Given the description of an element on the screen output the (x, y) to click on. 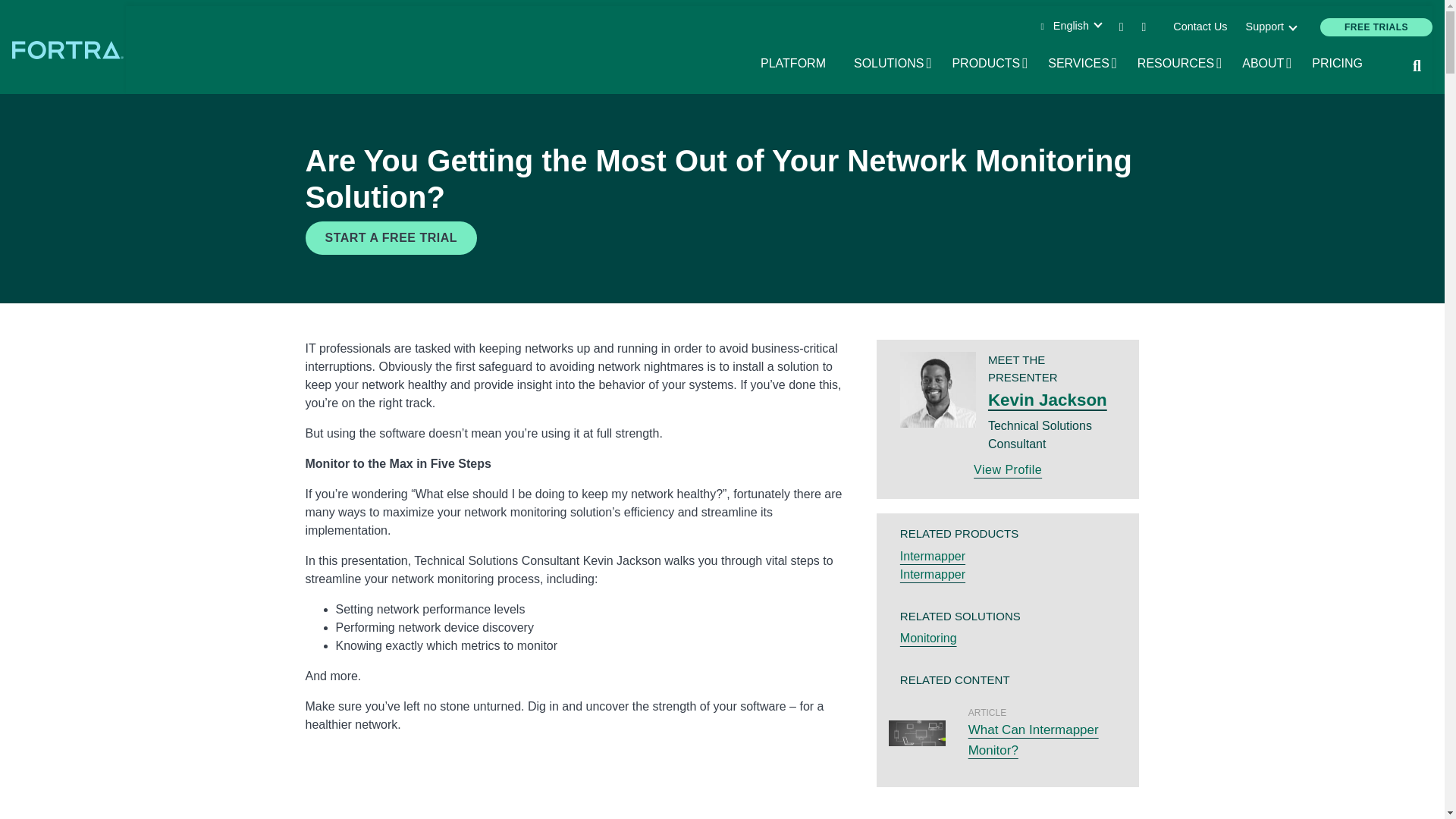
Support (1268, 27)
Skip to main content (721, 1)
PLATFORM (893, 63)
FREE TRIALS (797, 63)
Contact Us (1376, 27)
Home (1199, 27)
